Given the description of an element on the screen output the (x, y) to click on. 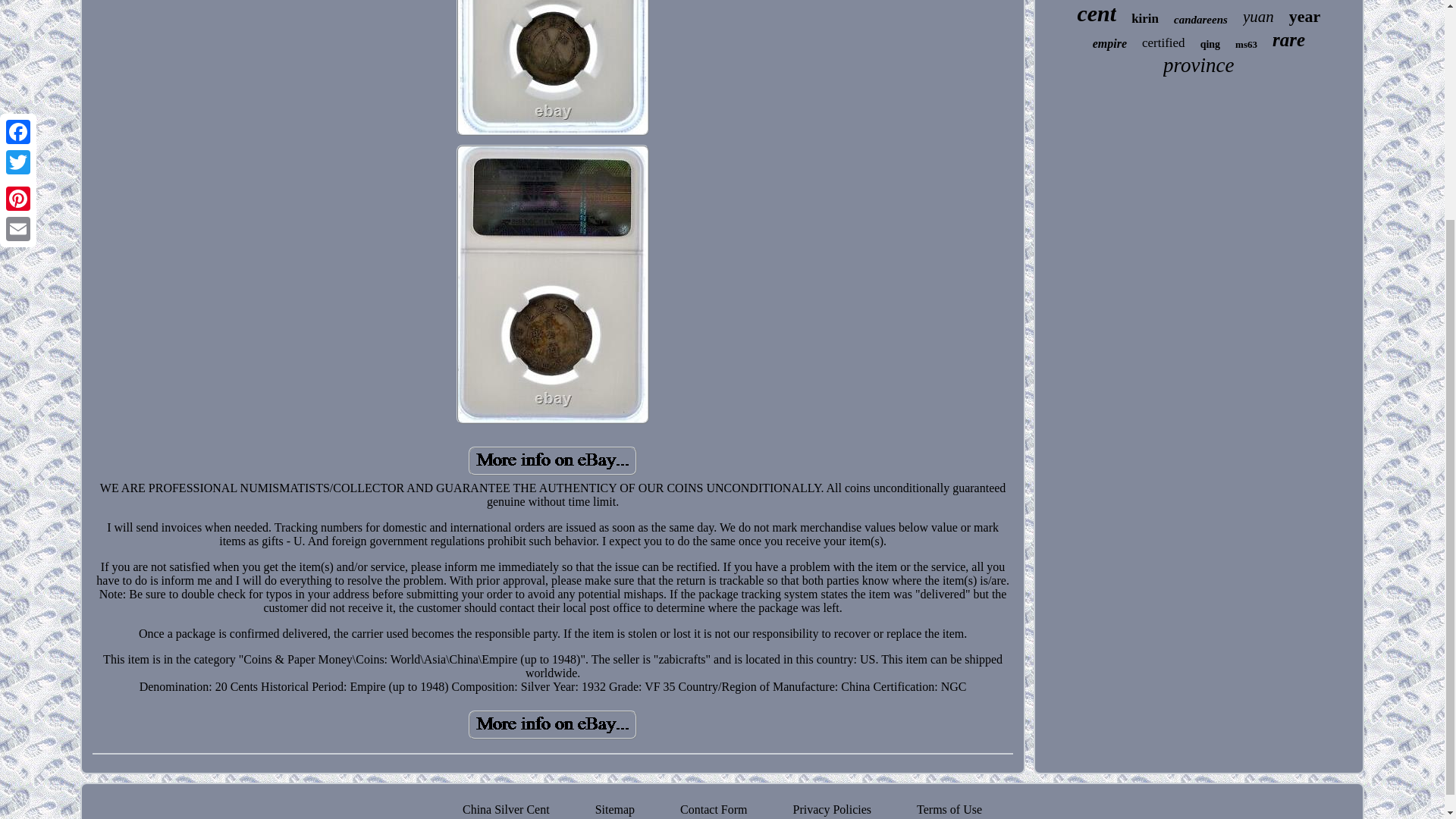
cent (1096, 13)
candareens (1200, 19)
yuan (1258, 16)
kirin (1144, 18)
